Given the description of an element on the screen output the (x, y) to click on. 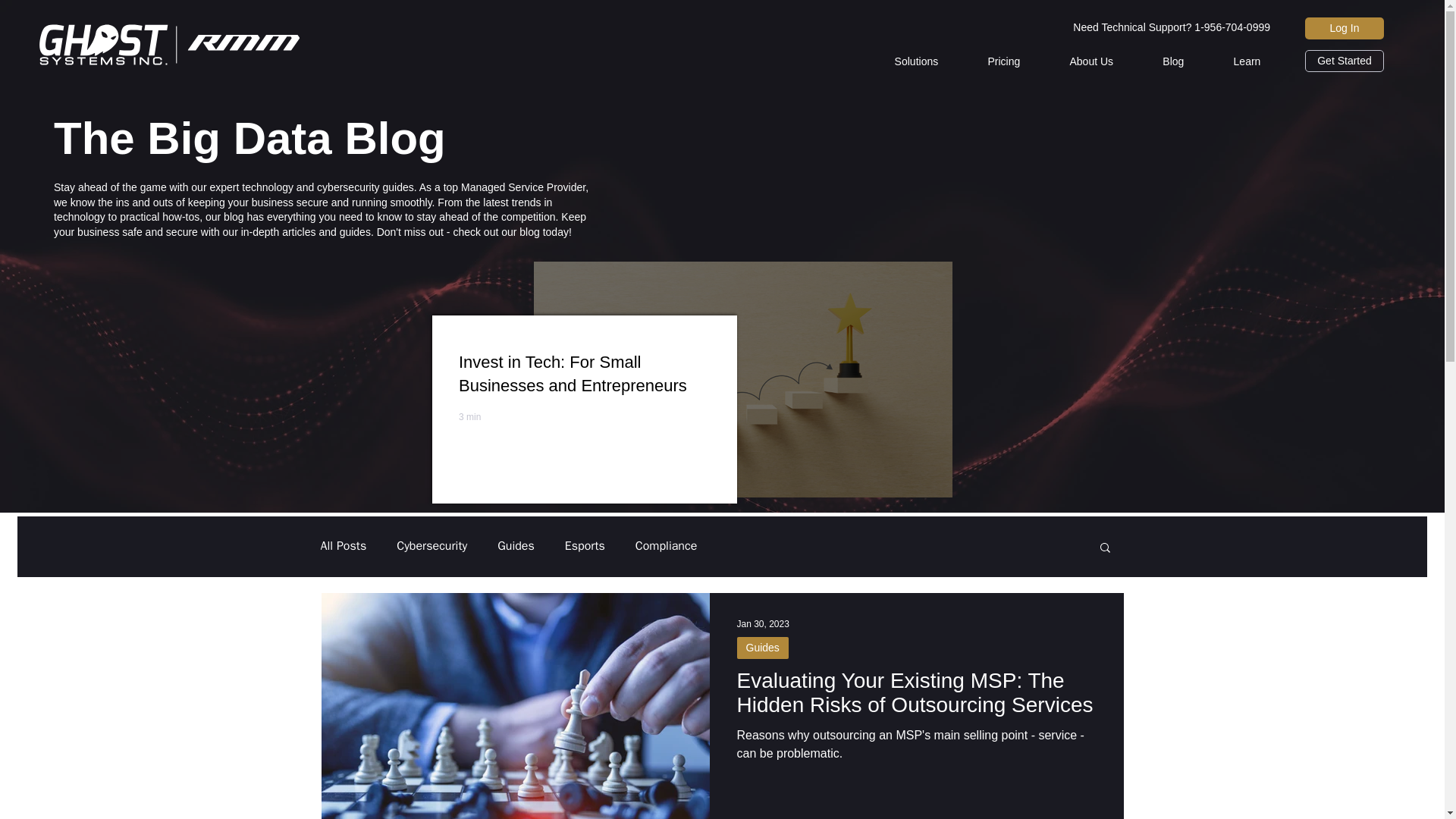
3 min (469, 416)
Cybersecurity (431, 546)
Log In (1344, 28)
All Posts (343, 546)
Invest in Tech: For Small Businesses and Entrepreneurs (743, 467)
Compliance (665, 546)
Esports (584, 546)
Guides (762, 648)
Guides (515, 546)
About Us (1091, 61)
Invest in Tech: For Small Businesses and Entrepreneurs (579, 377)
1-956-704-0999 (1230, 27)
Pricing (1004, 61)
Learn (1246, 61)
